Given the description of an element on the screen output the (x, y) to click on. 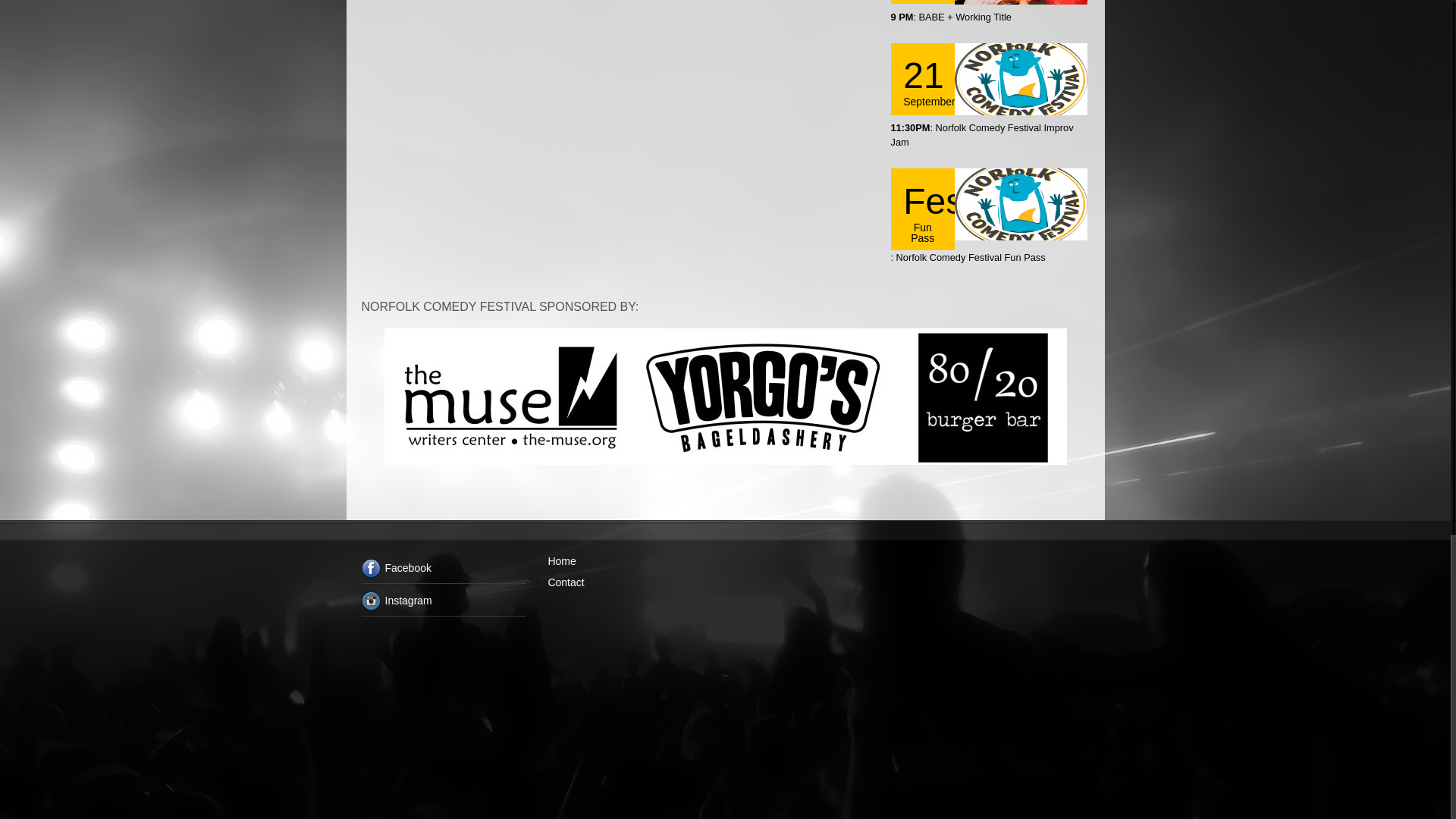
Facebook (443, 570)
11:30PM: Norfolk Comedy Festival Improv Jam (981, 135)
Contact (565, 582)
Instagram (443, 603)
Home (561, 561)
: Norfolk Comedy Festival Fun Pass (967, 256)
